Given the description of an element on the screen output the (x, y) to click on. 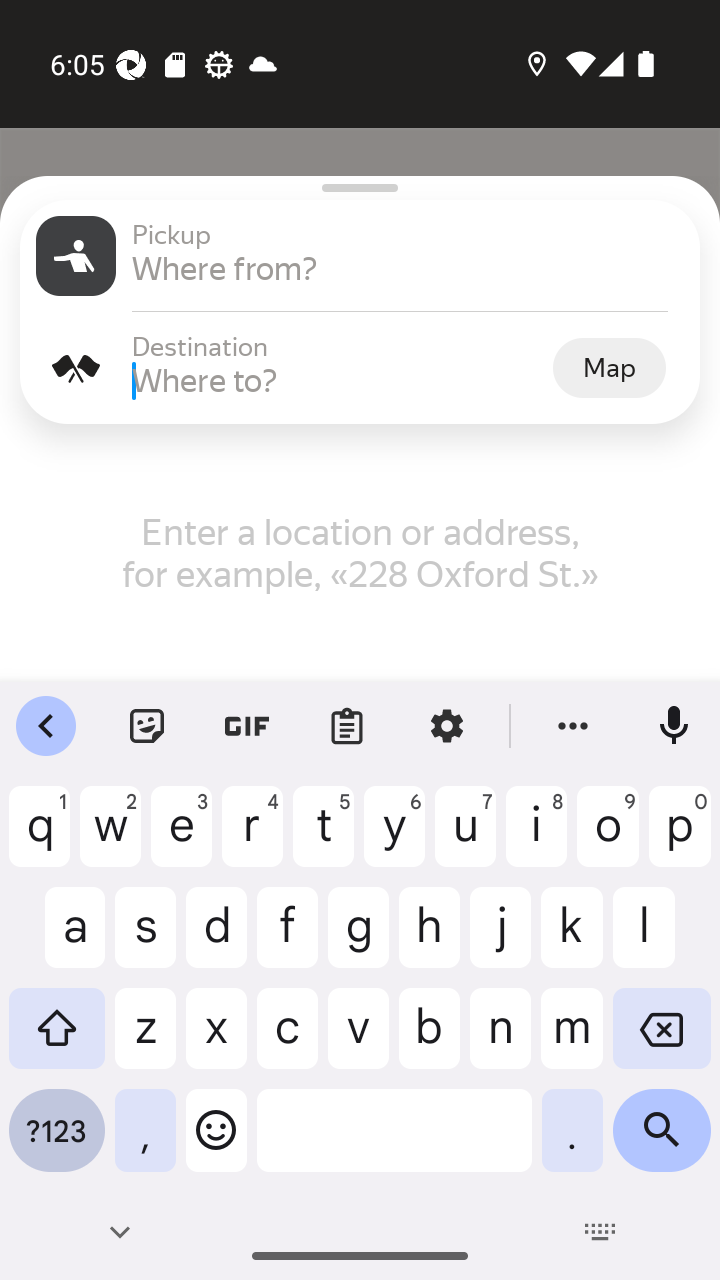
Pickup Pickup Where from? (359, 255)
Where from? (407, 268)
Destination Destination Where to? Map (359, 367)
Map (609, 367)
Where to? (340, 380)
